Given the description of an element on the screen output the (x, y) to click on. 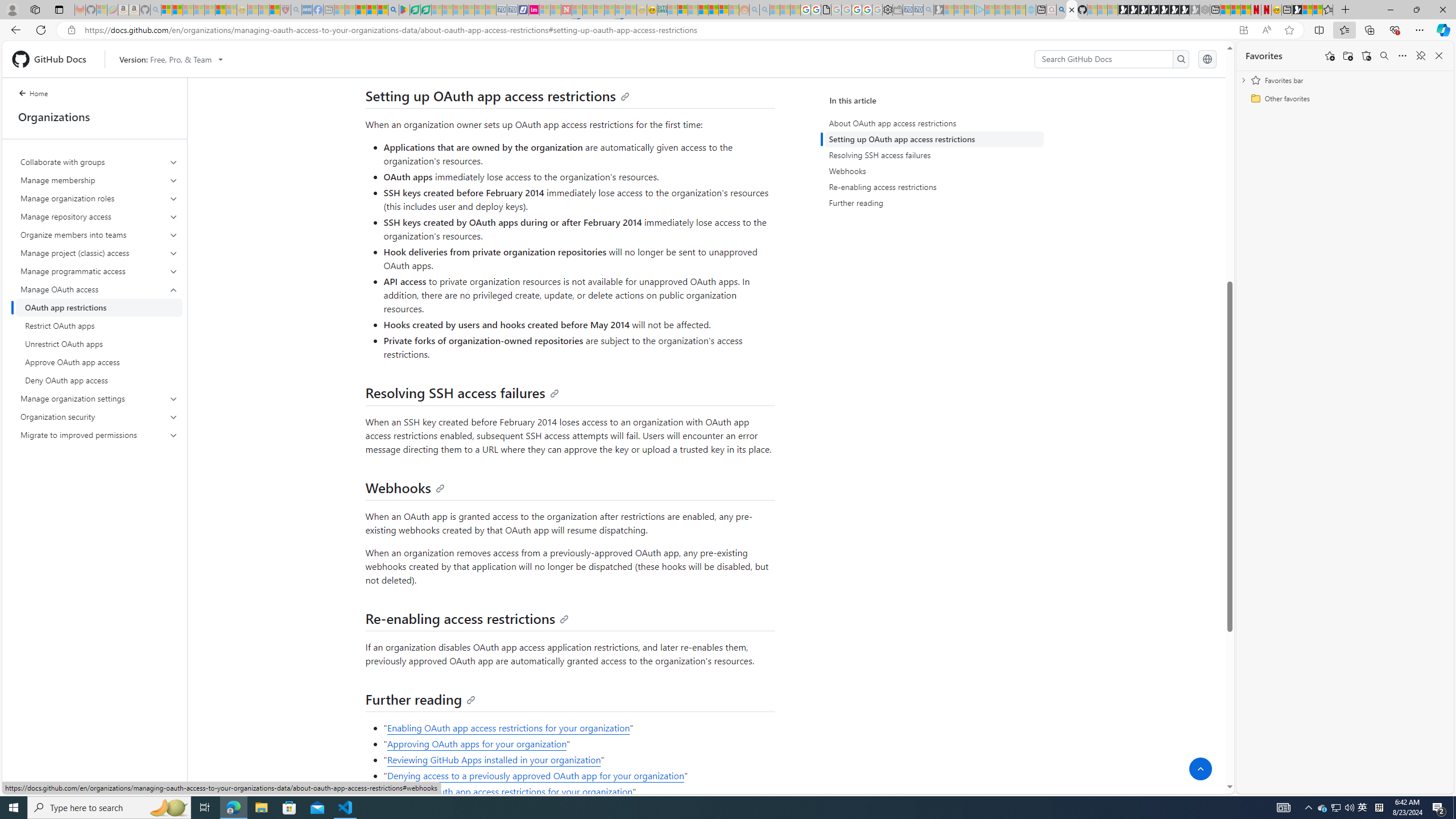
Approve OAuth app access (99, 361)
Resolving SSH access failures (933, 154)
Collaborate with groups (99, 162)
Search favorites (1383, 55)
Add this page to favorites (1330, 55)
Manage membership (99, 180)
Restore deleted favorites (1366, 55)
